Given the description of an element on the screen output the (x, y) to click on. 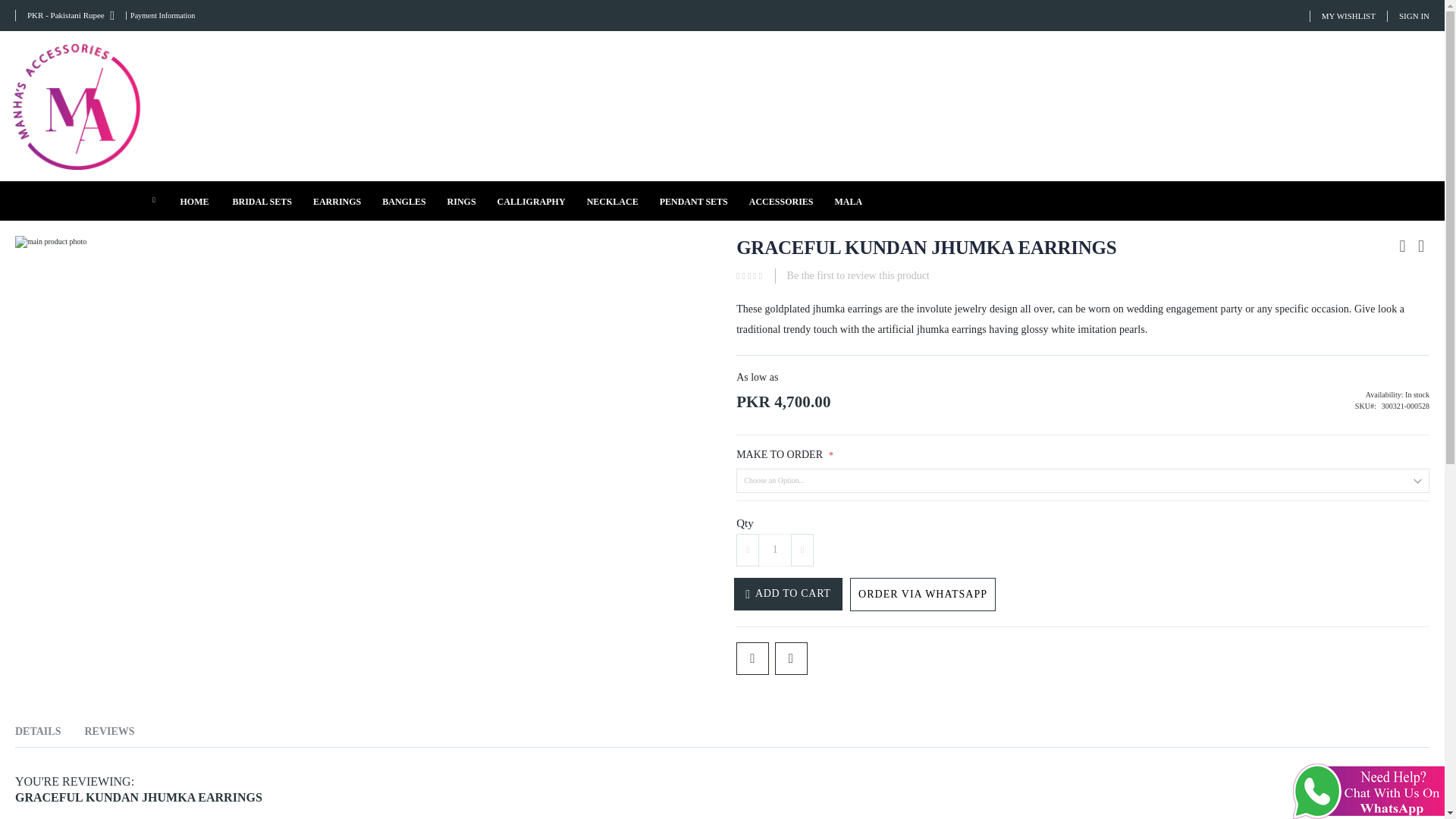
BRIDAL SETS (260, 200)
BANGLES (402, 200)
Qty (775, 549)
My Wish List (1347, 16)
ACCESSORIES (780, 200)
CALLIGRAPHY (531, 200)
MALA (847, 200)
BANGLES (402, 200)
RINGS (461, 200)
Payment Information (160, 15)
